Given the description of an element on the screen output the (x, y) to click on. 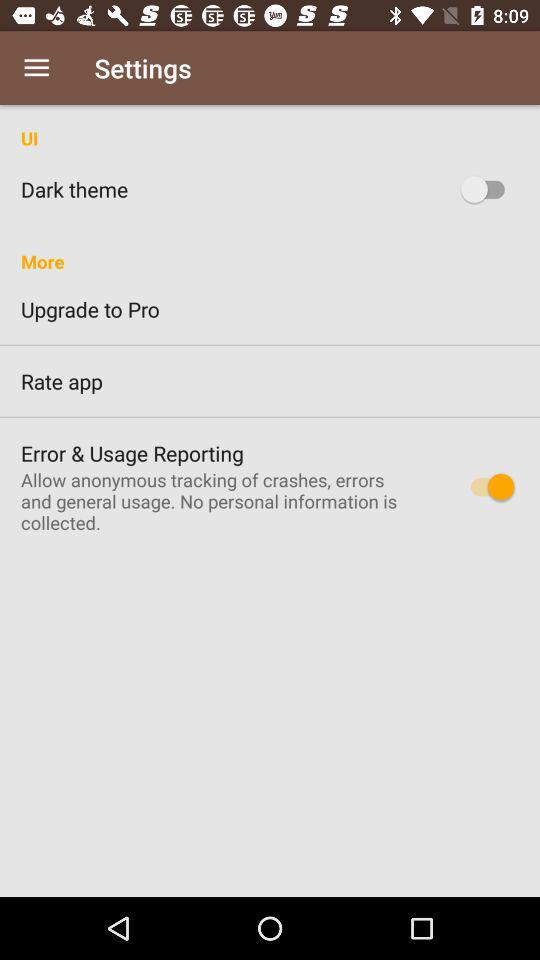
swipe to rate app item (270, 381)
